Given the description of an element on the screen output the (x, y) to click on. 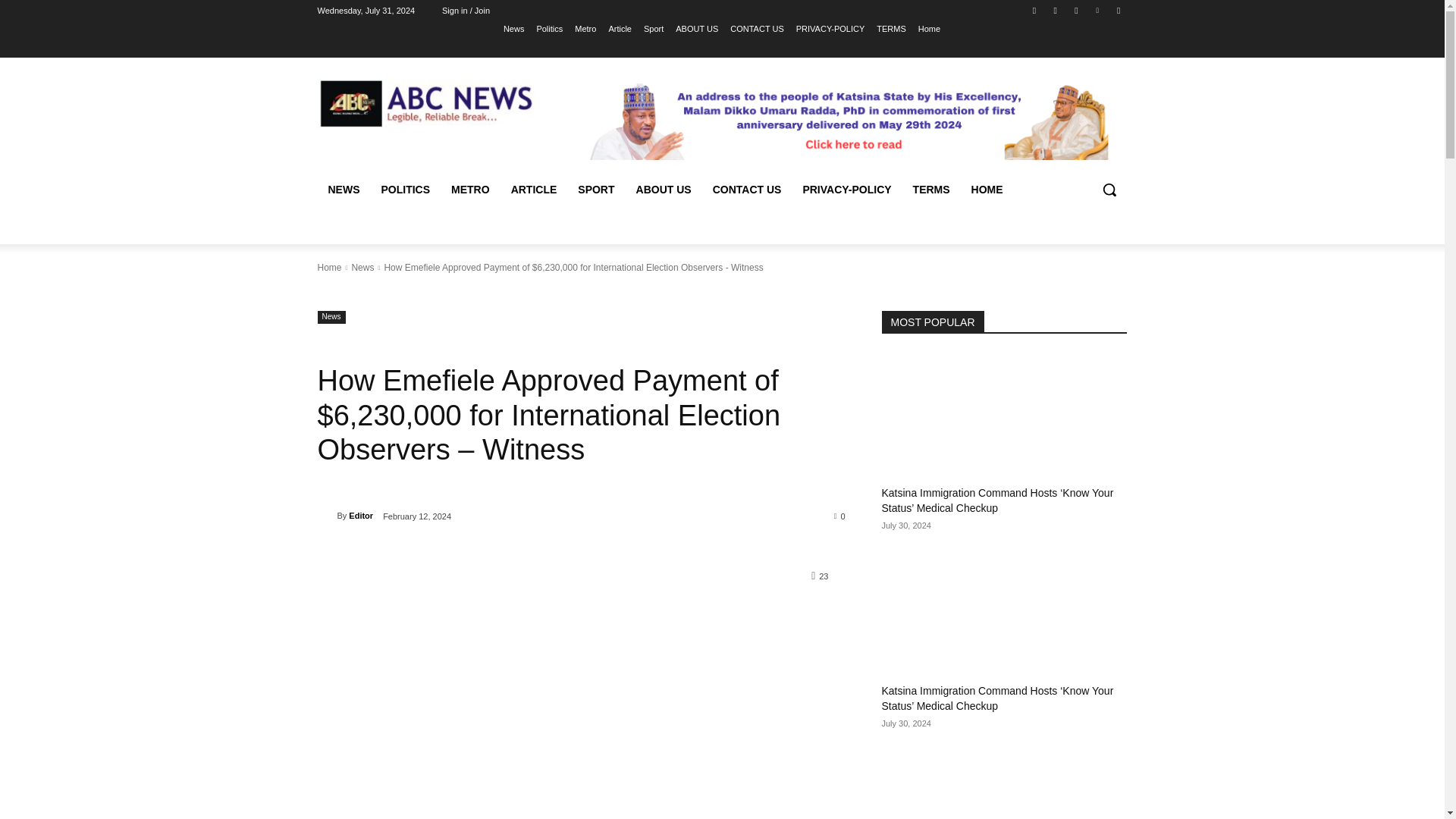
Home (929, 28)
POLITICS (405, 189)
ABOUT US (663, 189)
Twitter (1075, 9)
View all posts in News (362, 267)
ABOUT US (696, 28)
METRO (470, 189)
CONTACT US (757, 28)
ARTICLE (533, 189)
Article (619, 28)
Facebook (1034, 9)
Instagram (1055, 9)
Vimeo (1097, 9)
NEWS (343, 189)
TERMS (931, 189)
